Given the description of an element on the screen output the (x, y) to click on. 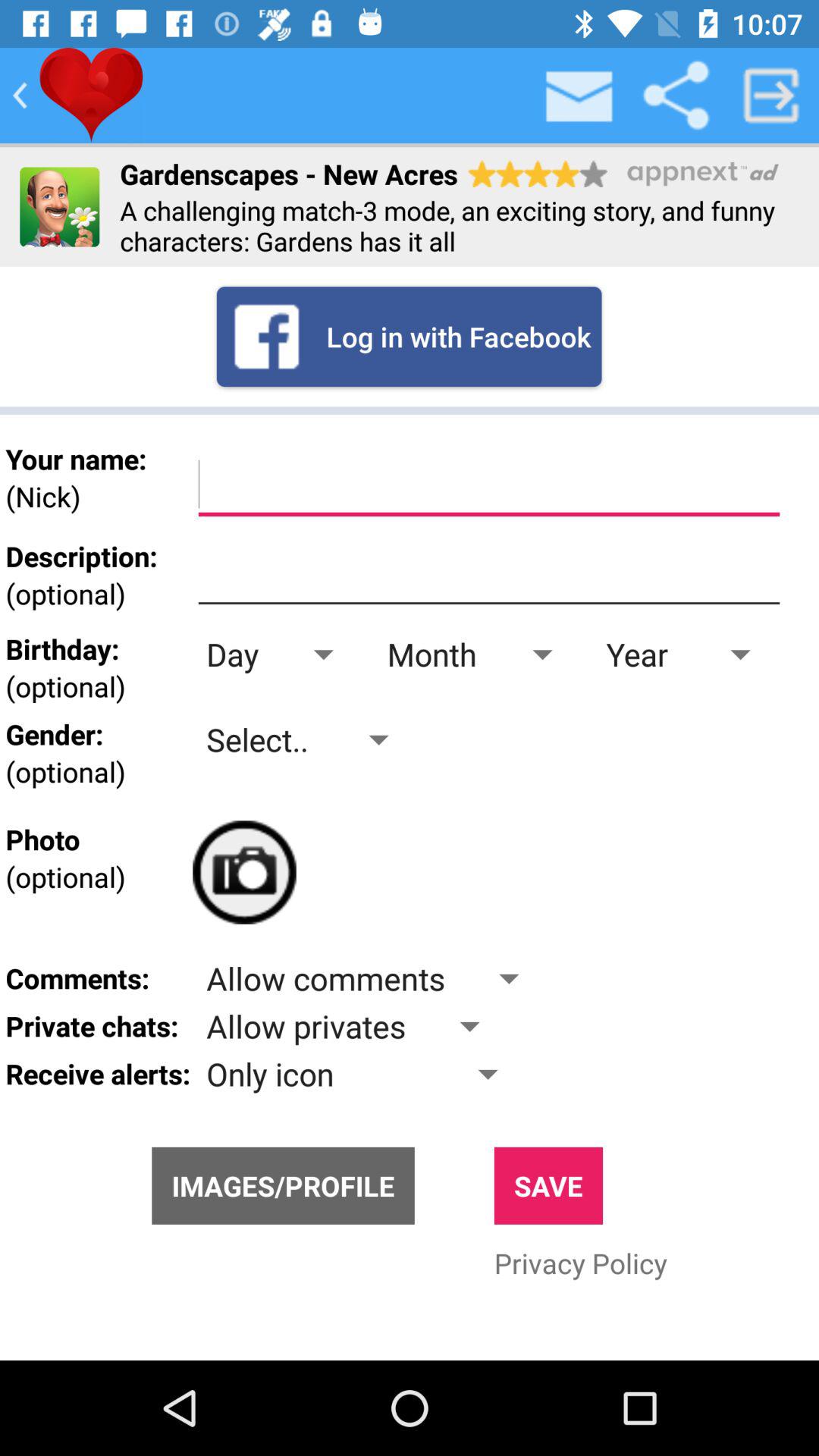
camera (244, 872)
